Given the description of an element on the screen output the (x, y) to click on. 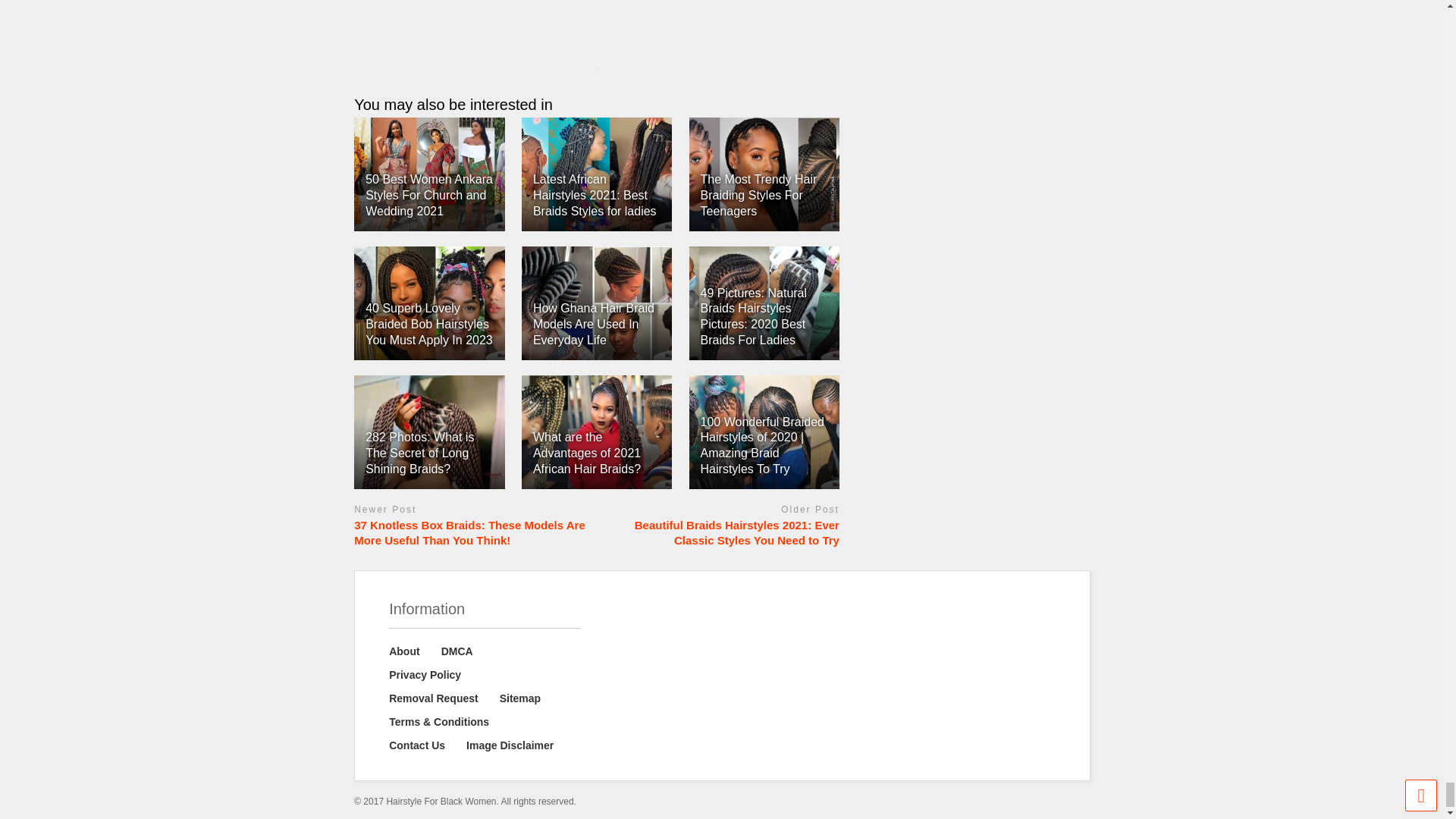
50 Best Women Ankara Styles For Church and Wedding 2021 (428, 173)
50 Best Women Ankara Styles For Church and Wedding 2021 (429, 194)
